Given the description of an element on the screen output the (x, y) to click on. 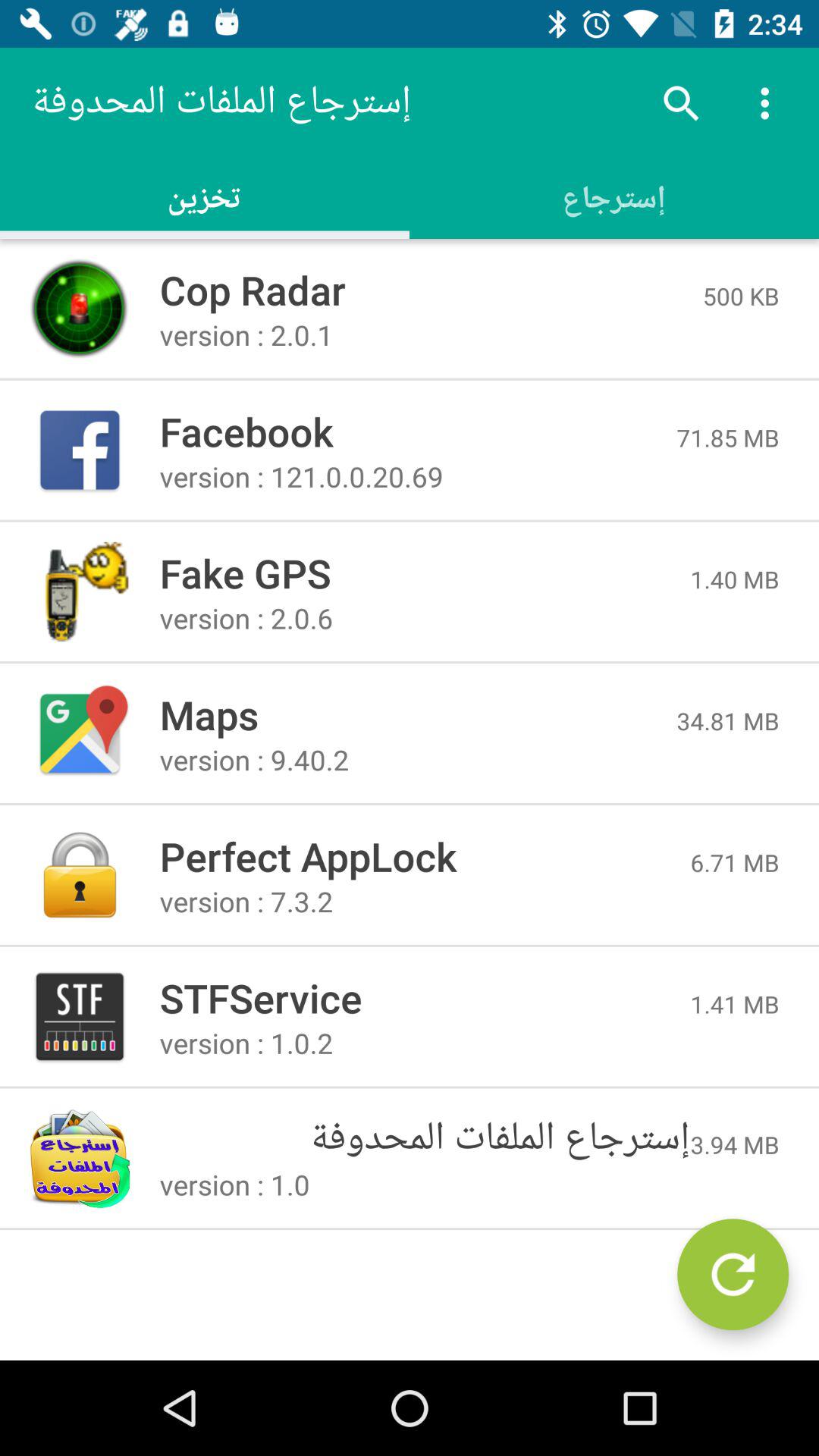
launch icon next to the 1.40 mb icon (424, 572)
